Given the description of an element on the screen output the (x, y) to click on. 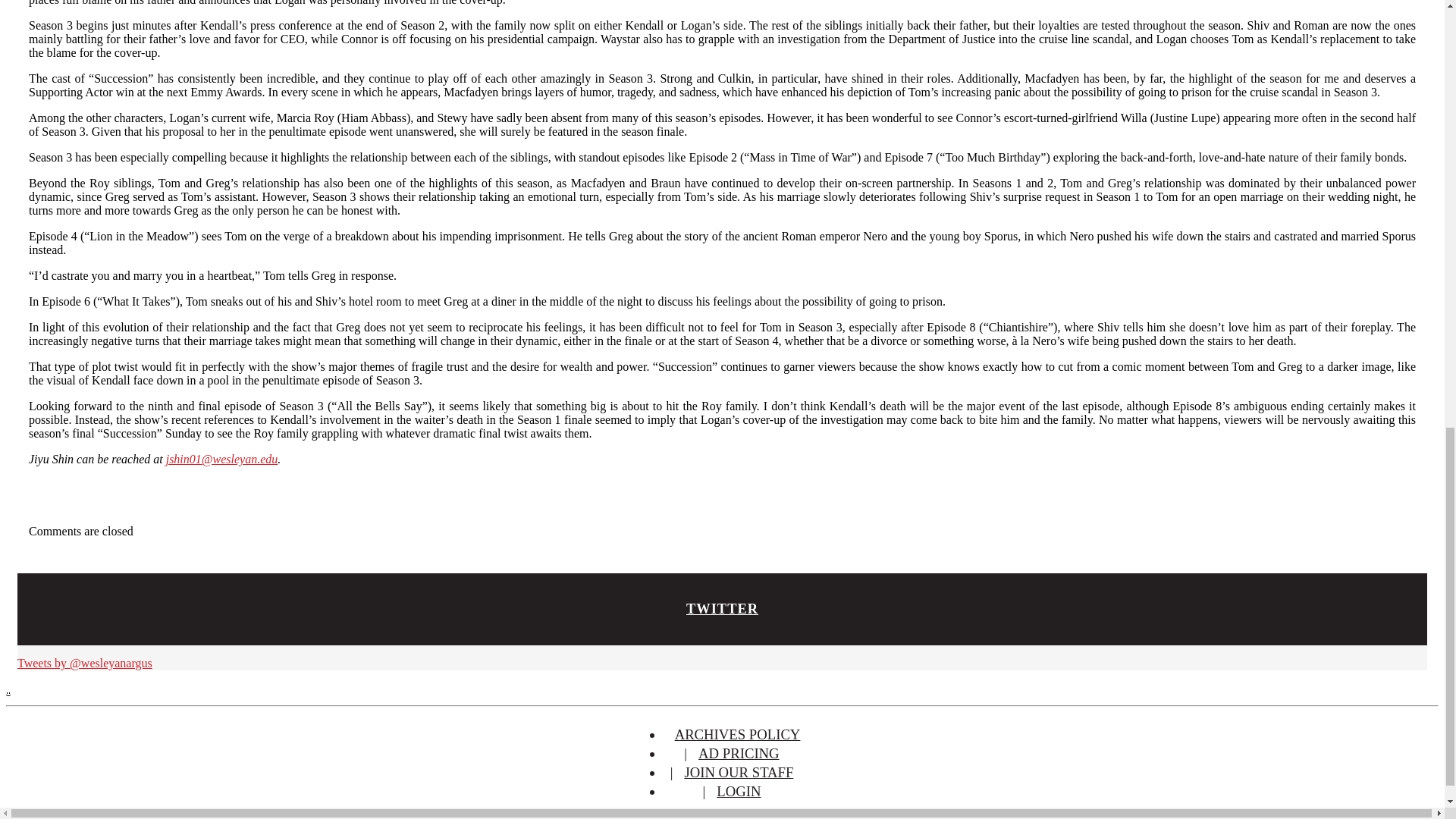
JOIN OUR STAFF (738, 772)
TWITTER (721, 608)
LOGIN (737, 790)
AD PRICING (738, 753)
ARCHIVES POLICY (737, 734)
